Given the description of an element on the screen output the (x, y) to click on. 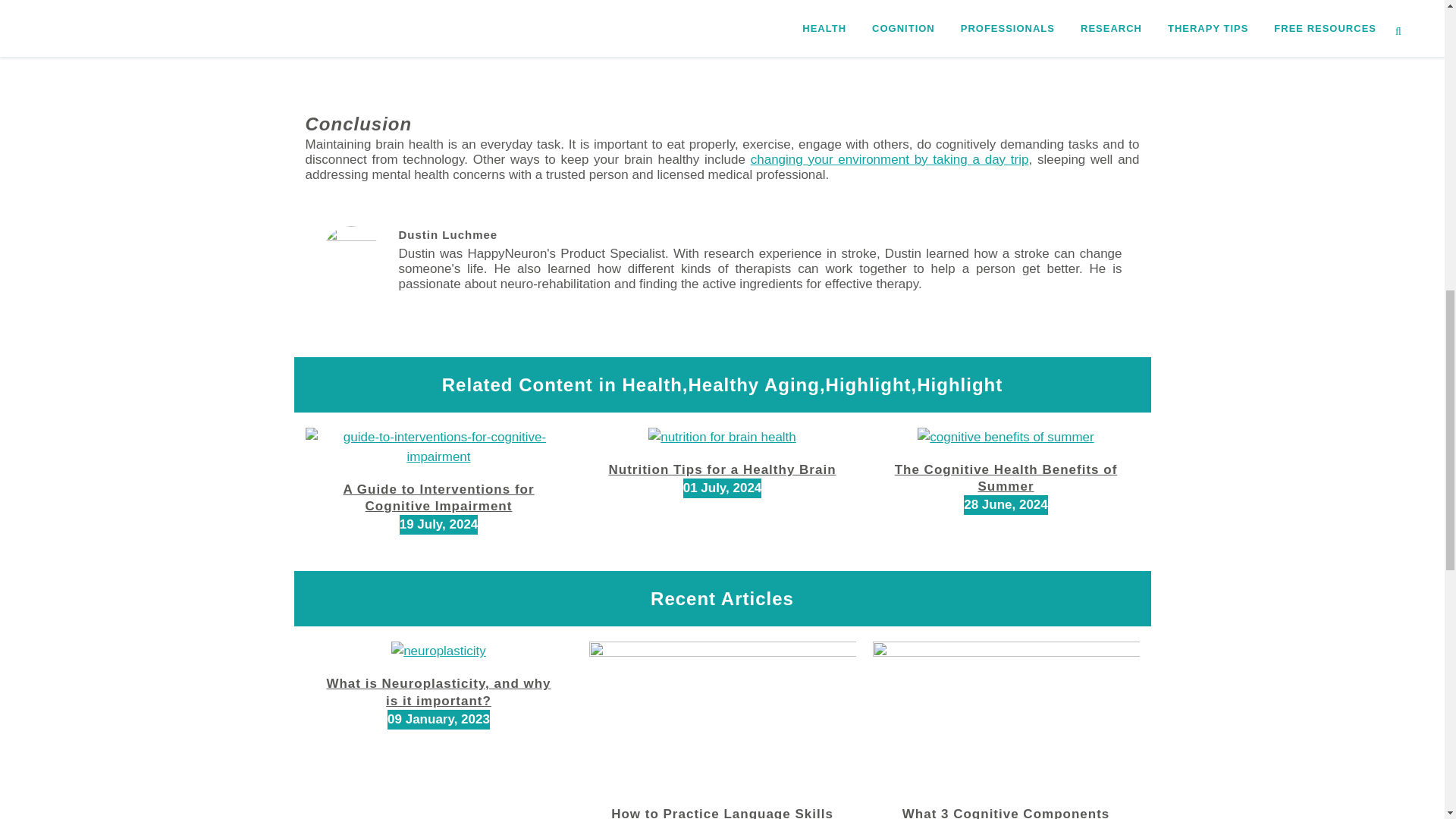
What is Neuroplasticity, and why is it important? (438, 691)
How to Practice Language Skills Over the Holidays (721, 812)
The Cognitive Health Benefits of Summer (1006, 477)
Nutrition Tips for a Healthy Brain (721, 469)
What 3 Cognitive Components Should You Work On For Aphasia? (1006, 812)
rseau social illustration (1007, 55)
changing your environment by taking a day trip (890, 159)
A Guide to Interventions for Cognitive Impairment (438, 497)
